Given the description of an element on the screen output the (x, y) to click on. 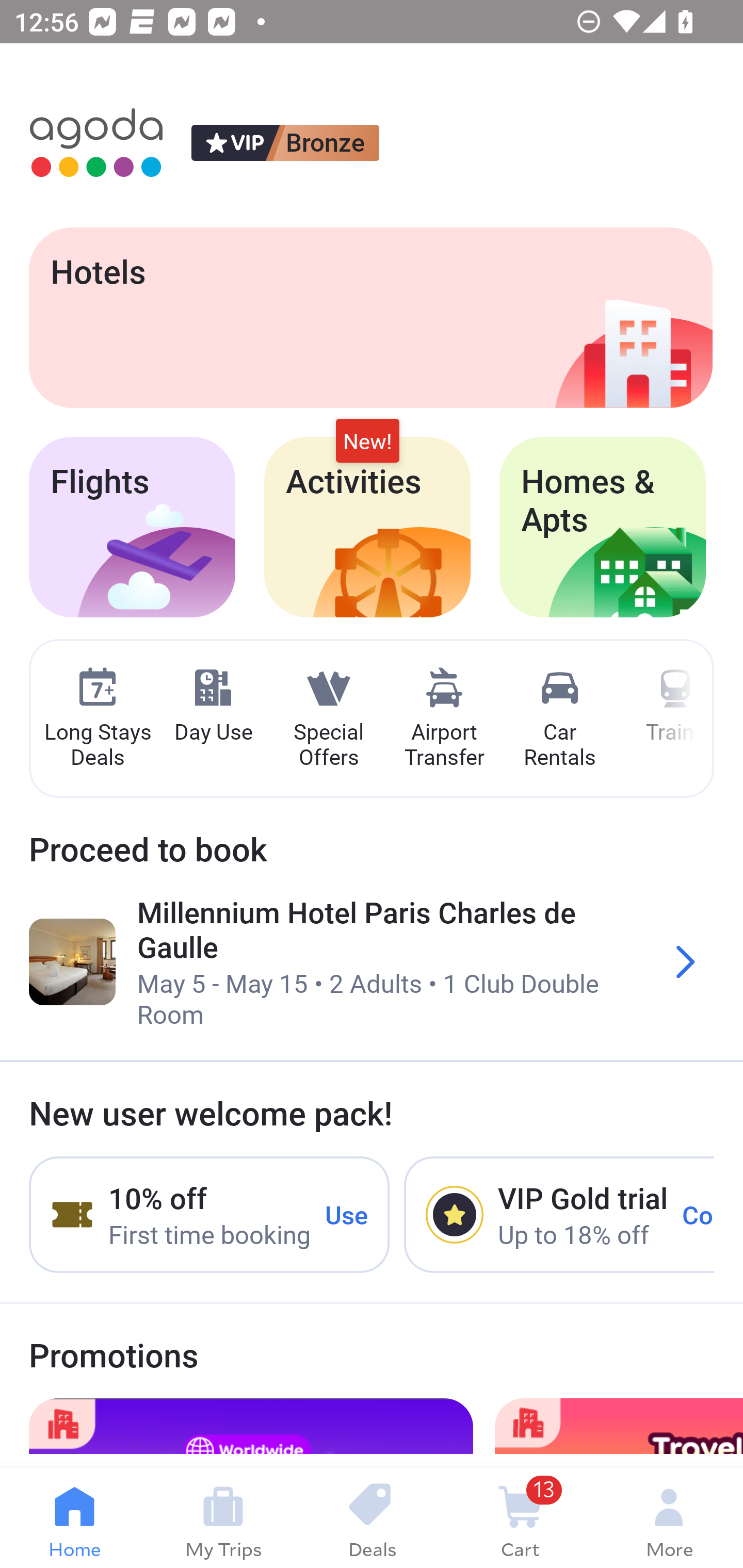
Hotels (370, 317)
New! (367, 441)
Flights (131, 527)
Activities (367, 527)
Homes & Apts (602, 527)
Day Use (213, 706)
Long Stays Deals (97, 718)
Special Offers (328, 718)
Airport Transfer (444, 718)
Car Rentals (559, 718)
Use (346, 1214)
Home (74, 1518)
My Trips (222, 1518)
Deals (371, 1518)
13 Cart (519, 1518)
More (668, 1518)
